Given the description of an element on the screen output the (x, y) to click on. 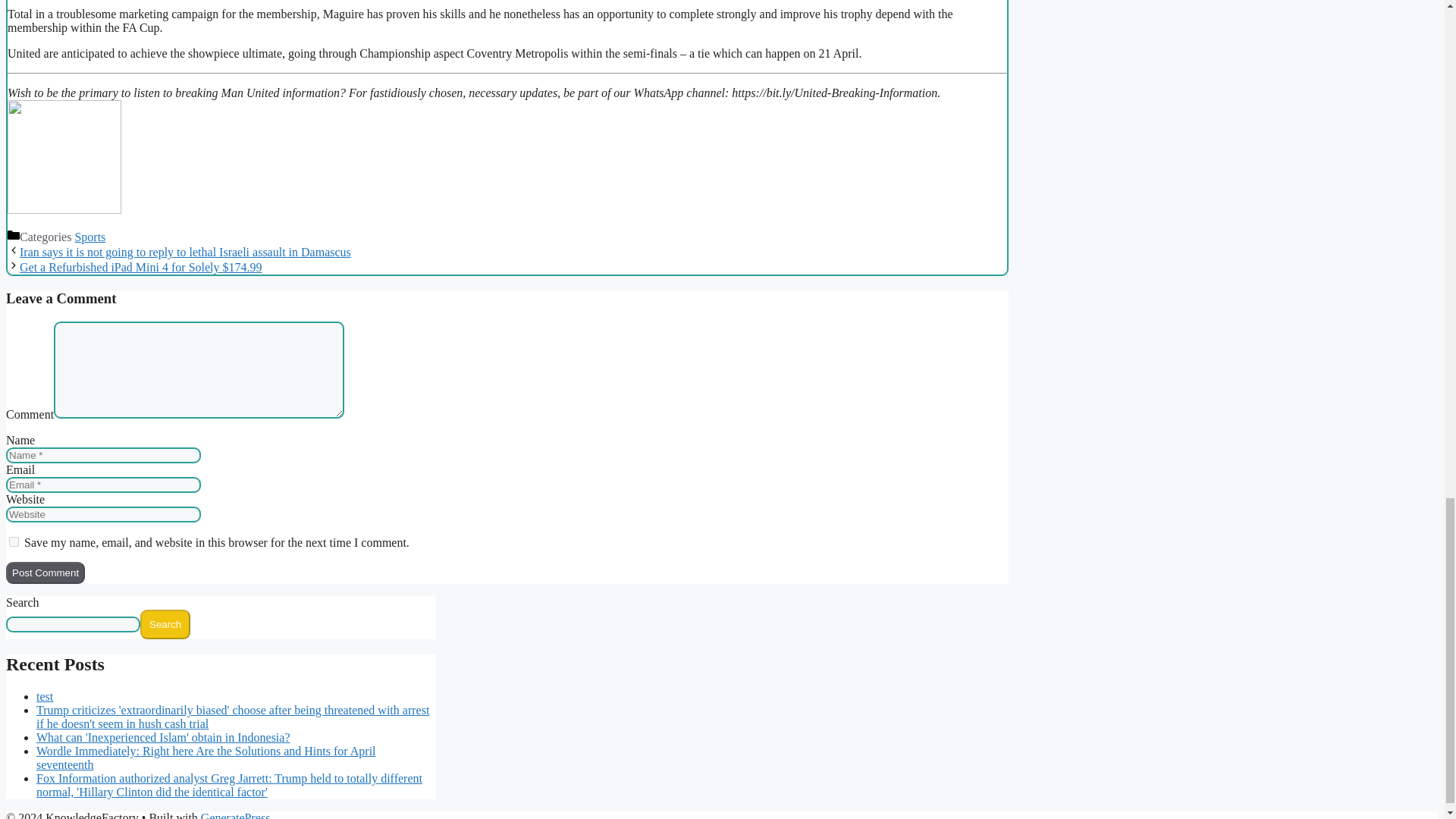
test (44, 696)
yes (13, 542)
Search (164, 624)
Post Comment (44, 572)
Post Comment (44, 572)
Sports (89, 236)
What can 'Inexperienced Islam' obtain in Indonesia? (162, 737)
